Given the description of an element on the screen output the (x, y) to click on. 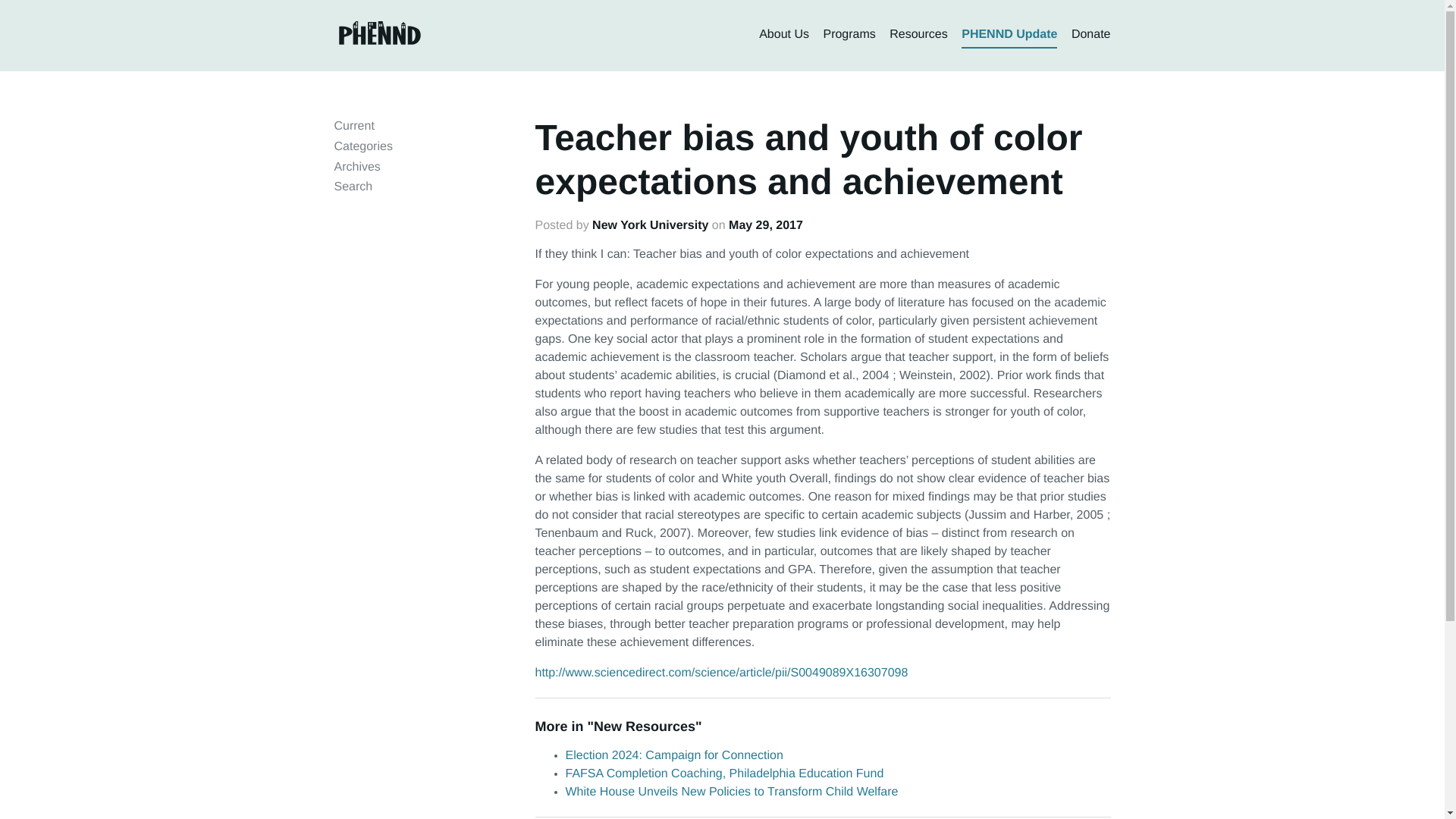
PHENND Update (1008, 35)
New York University (649, 225)
Election 2024: Campaign for Connection (674, 755)
FAFSA Completion Coaching, Philadelphia Education Fund (724, 773)
Current (353, 125)
Archives (356, 166)
About Us (783, 34)
May 29, 2017 (766, 225)
New Resources (644, 726)
White House Unveils New Policies to Transform Child Welfare (732, 791)
